Given the description of an element on the screen output the (x, y) to click on. 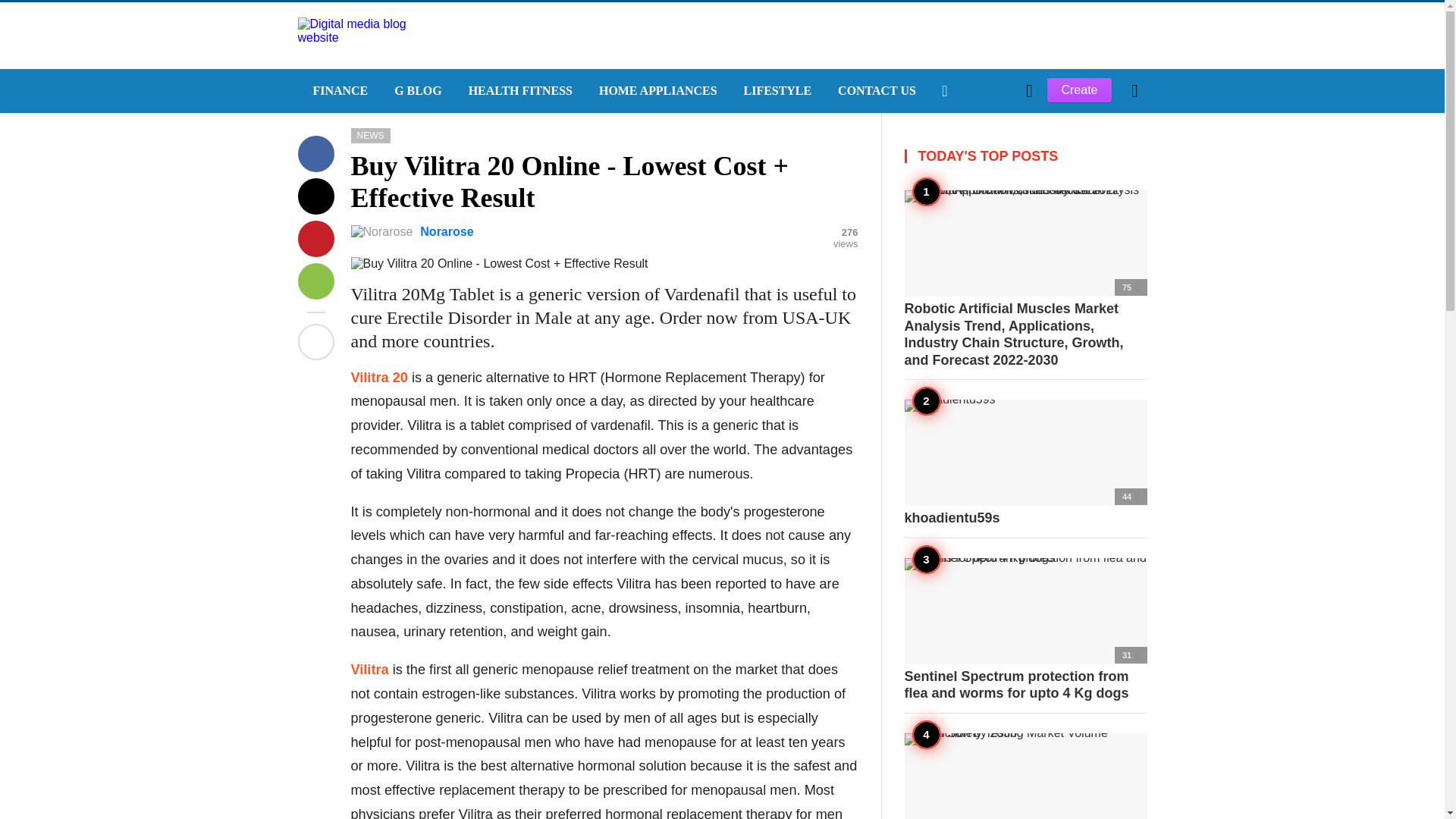
LIFESTYLE (776, 90)
HEALTH FITNESS (517, 90)
G BLOG (415, 90)
HOME APPLIANCES (656, 90)
sign up (964, 362)
Food Safety Testing Market Volume Prediction by 2030 (1025, 775)
Log in (962, 362)
khoadientu59s (1025, 463)
FINANCE (337, 90)
CONTACT US (874, 90)
